Given the description of an element on the screen output the (x, y) to click on. 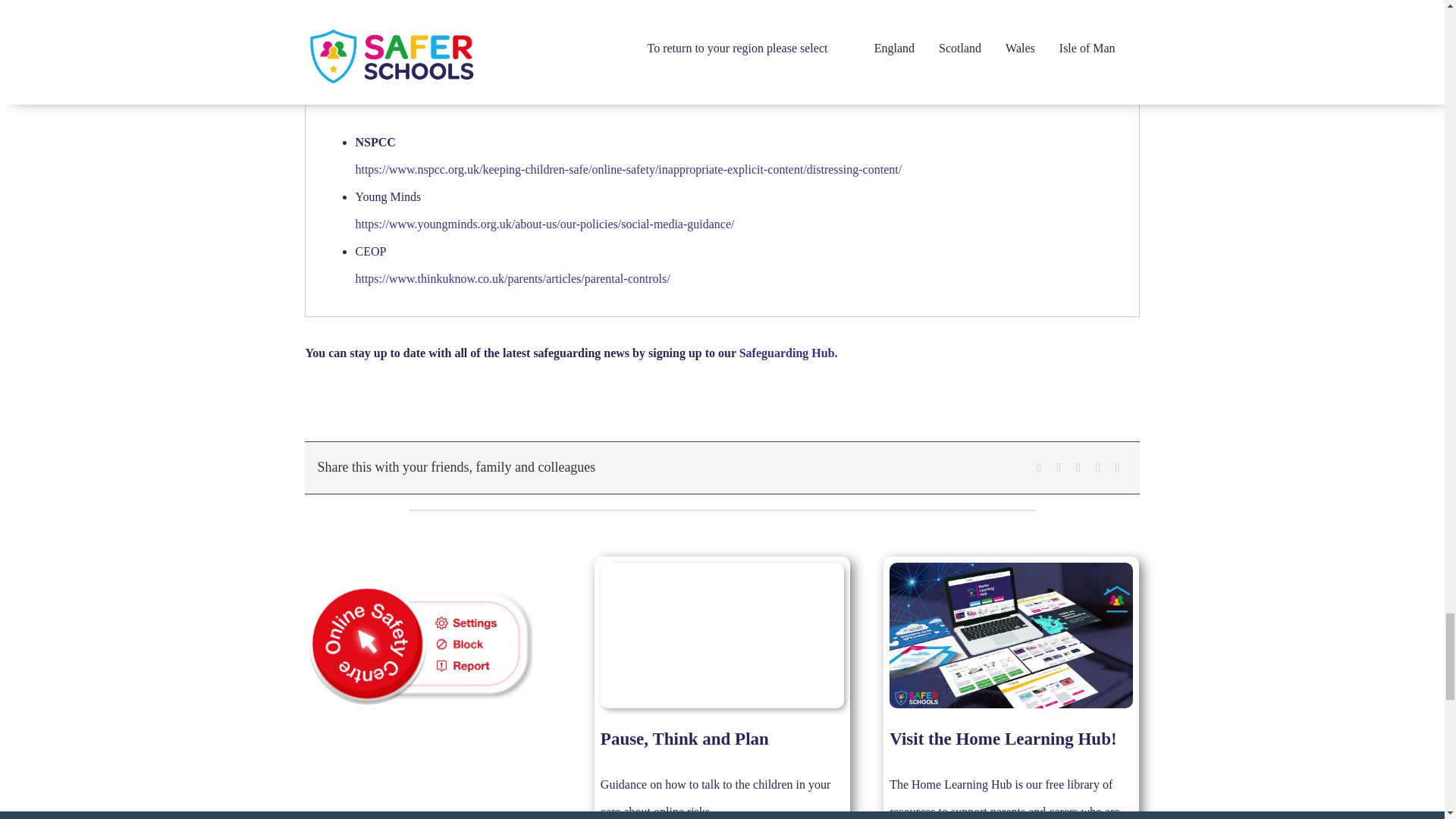
Further Advice and Guidance (721, 87)
